Given the description of an element on the screen output the (x, y) to click on. 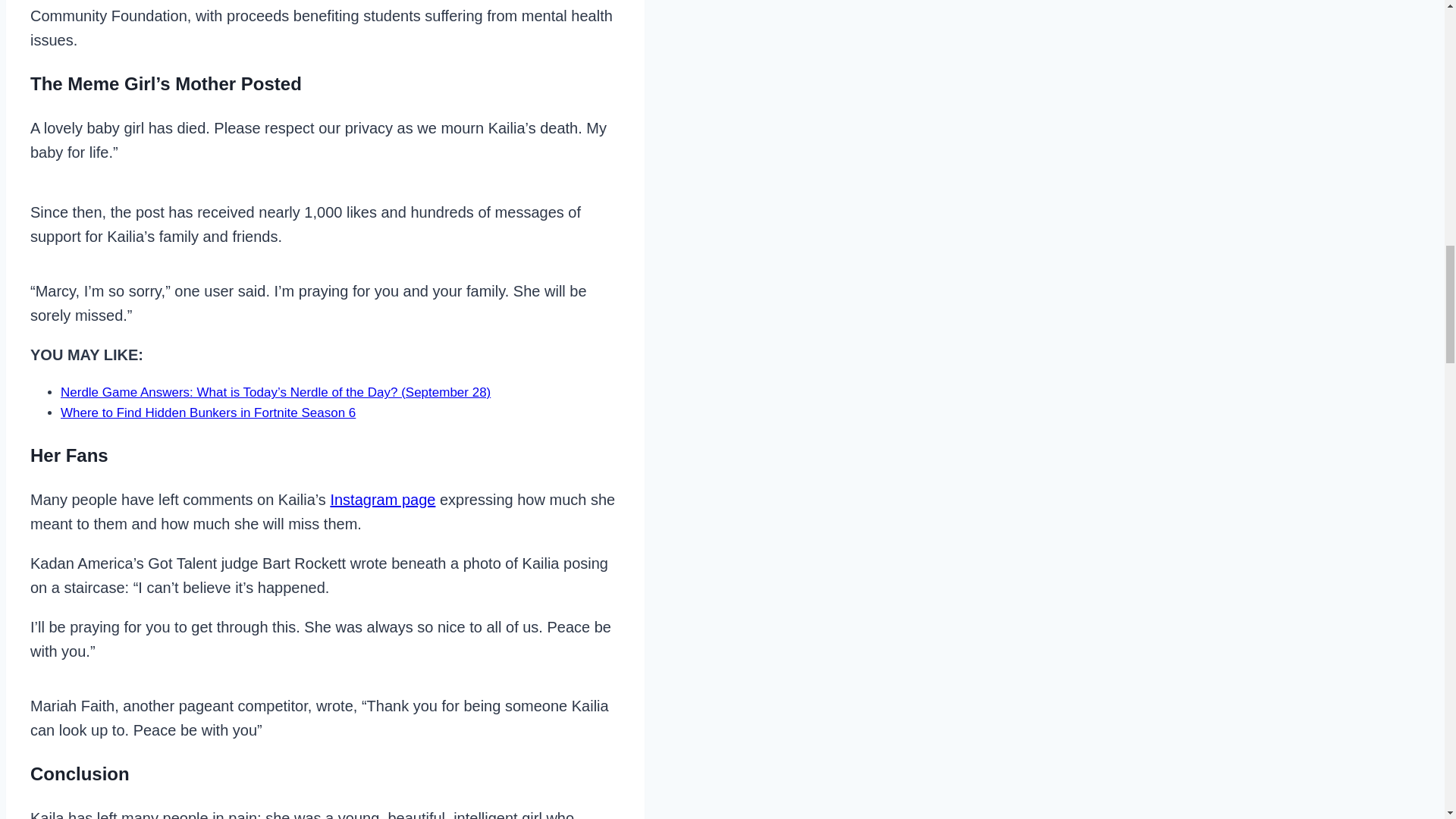
Where to Find Hidden Bunkers in Fortnite Season 6 (208, 412)
Instagram page (382, 499)
